Given the description of an element on the screen output the (x, y) to click on. 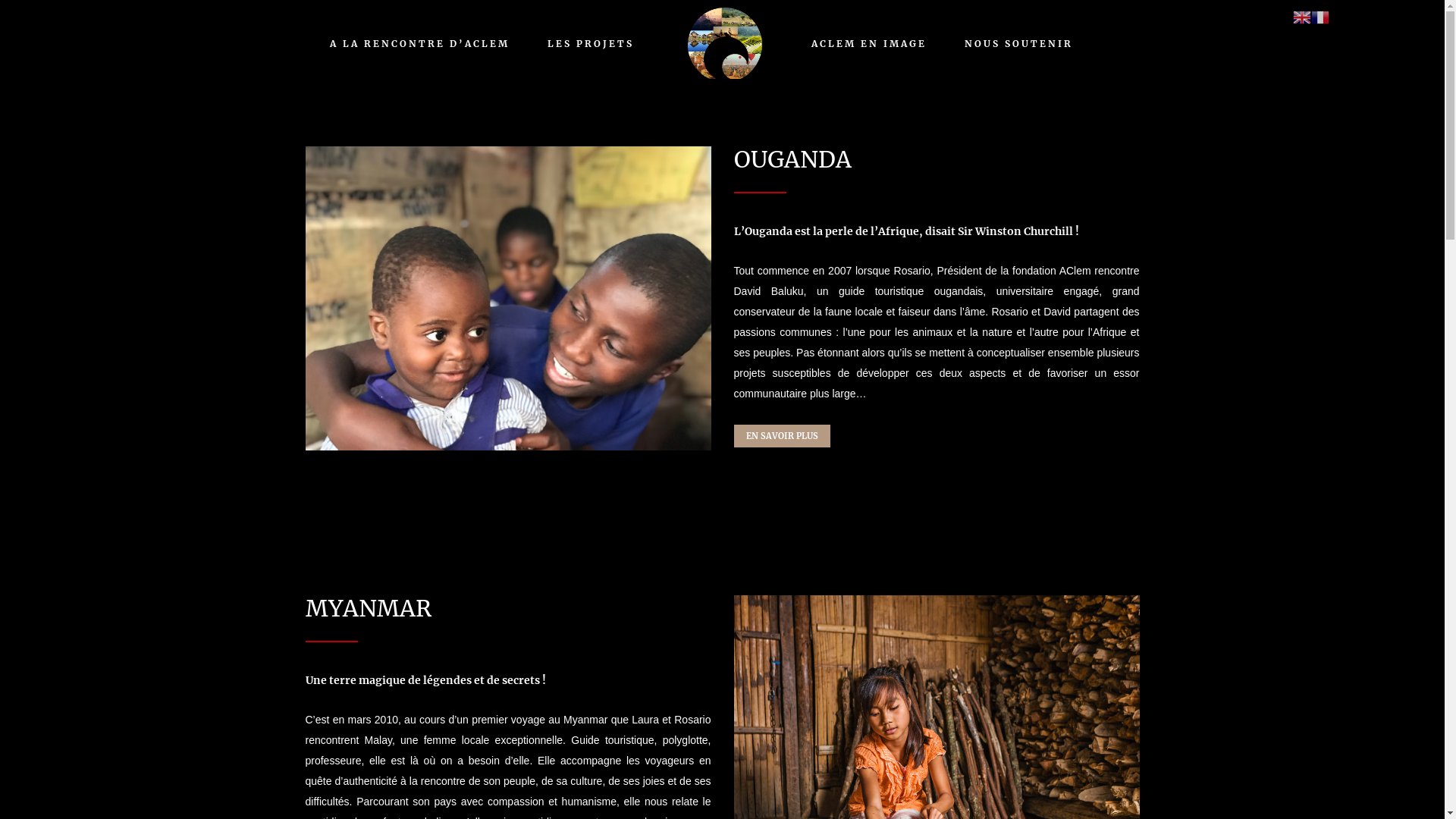
NOUS SOUTENIR Element type: text (1018, 43)
LES PROJETS Element type: text (590, 43)
EN SAVOIR PLUS Element type: text (782, 435)
English Element type: hover (1301, 16)
ACLEM EN IMAGE Element type: text (868, 43)
